Given the description of an element on the screen output the (x, y) to click on. 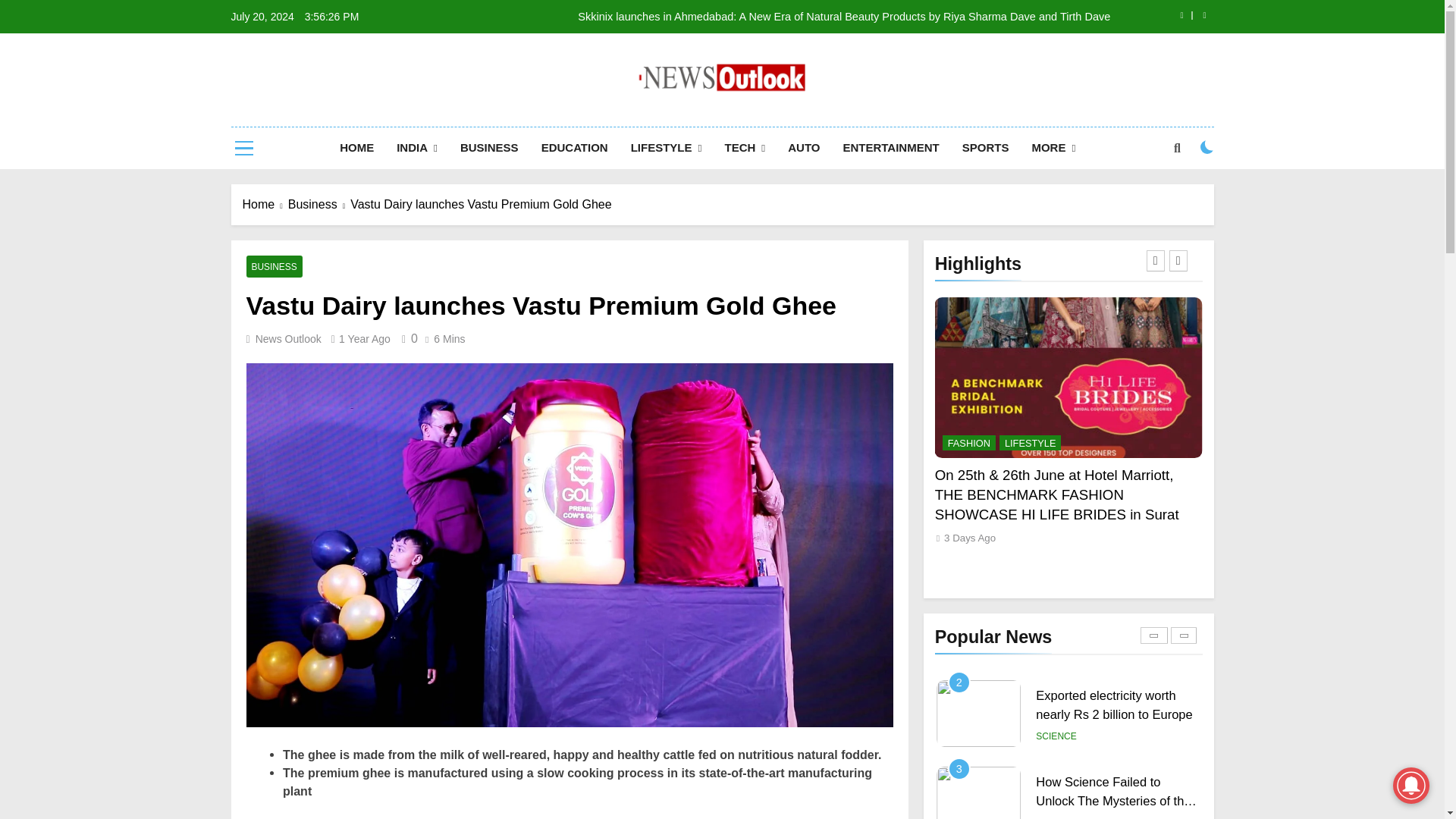
News Outlook (594, 116)
on (1206, 146)
LIFESTYLE (666, 147)
TECH (744, 147)
INDIA (416, 147)
BUSINESS (488, 147)
HOME (357, 147)
AUTO (803, 147)
EDUCATION (574, 147)
